Given the description of an element on the screen output the (x, y) to click on. 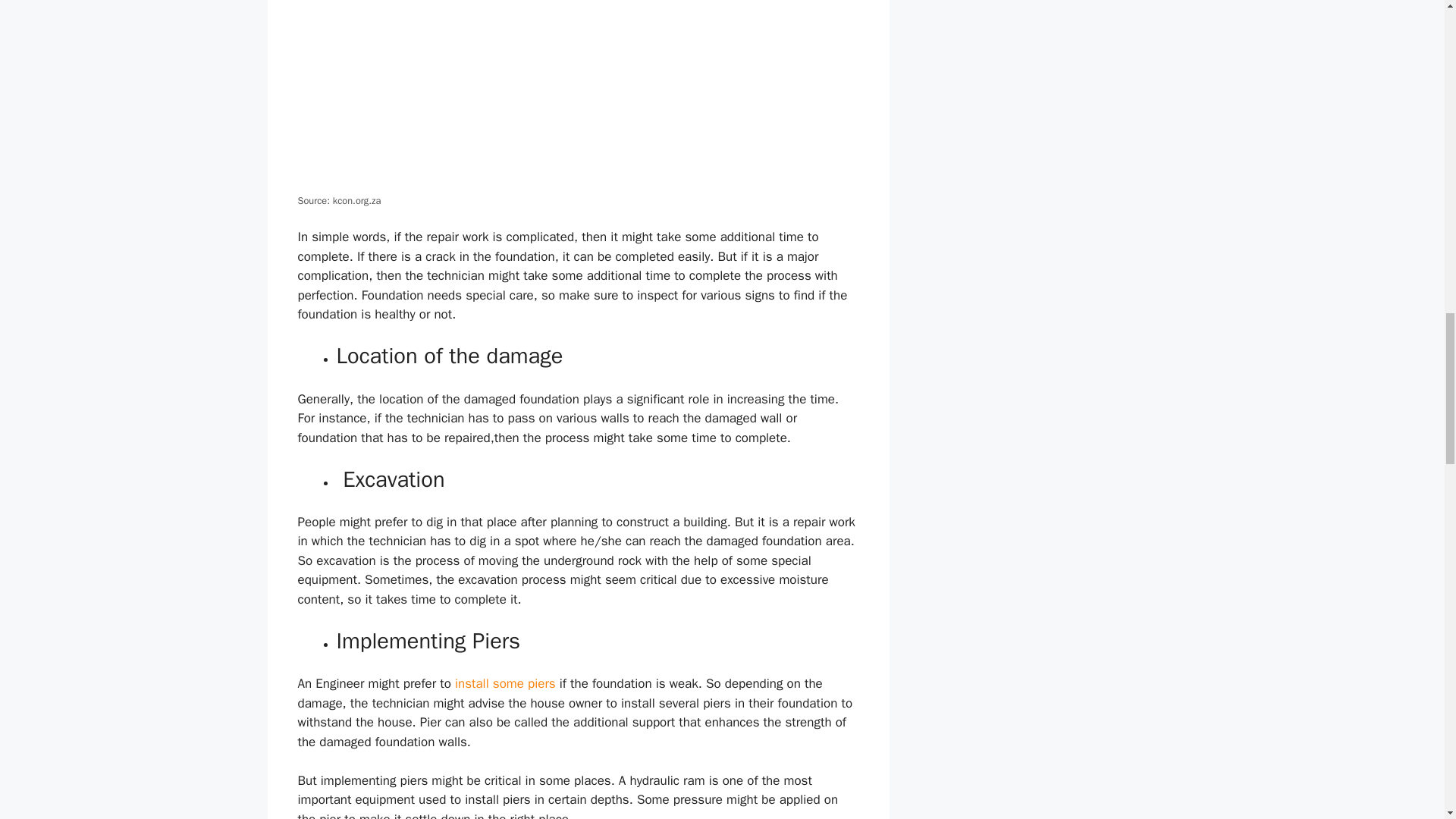
install some piers (505, 683)
